Given the description of an element on the screen output the (x, y) to click on. 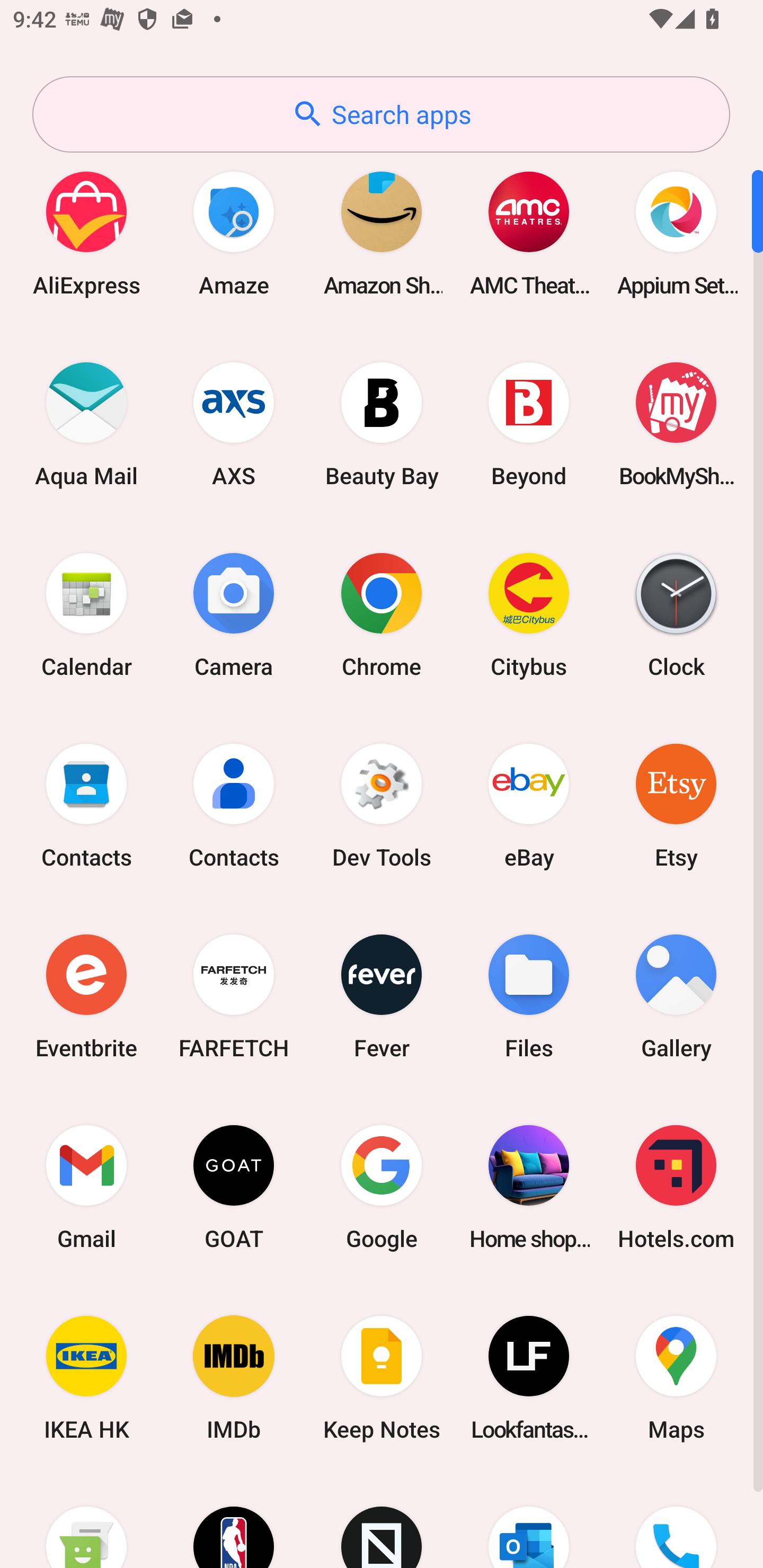
  Search apps (381, 114)
AliExpress (86, 233)
Amaze (233, 233)
Amazon Shopping (381, 233)
AMC Theatres (528, 233)
Appium Settings (676, 233)
Aqua Mail (86, 424)
AXS (233, 424)
Beauty Bay (381, 424)
Beyond (528, 424)
BookMyShow (676, 424)
Calendar (86, 614)
Camera (233, 614)
Chrome (381, 614)
Citybus (528, 614)
Clock (676, 614)
Contacts (86, 805)
Contacts (233, 805)
Dev Tools (381, 805)
eBay (528, 805)
Etsy (676, 805)
Eventbrite (86, 996)
FARFETCH (233, 996)
Fever (381, 996)
Files (528, 996)
Gallery (676, 996)
Gmail (86, 1186)
GOAT (233, 1186)
Google (381, 1186)
Home shopping (528, 1186)
Hotels.com (676, 1186)
IKEA HK (86, 1377)
IMDb (233, 1377)
Keep Notes (381, 1377)
Lookfantastic (528, 1377)
Maps (676, 1377)
